Given the description of an element on the screen output the (x, y) to click on. 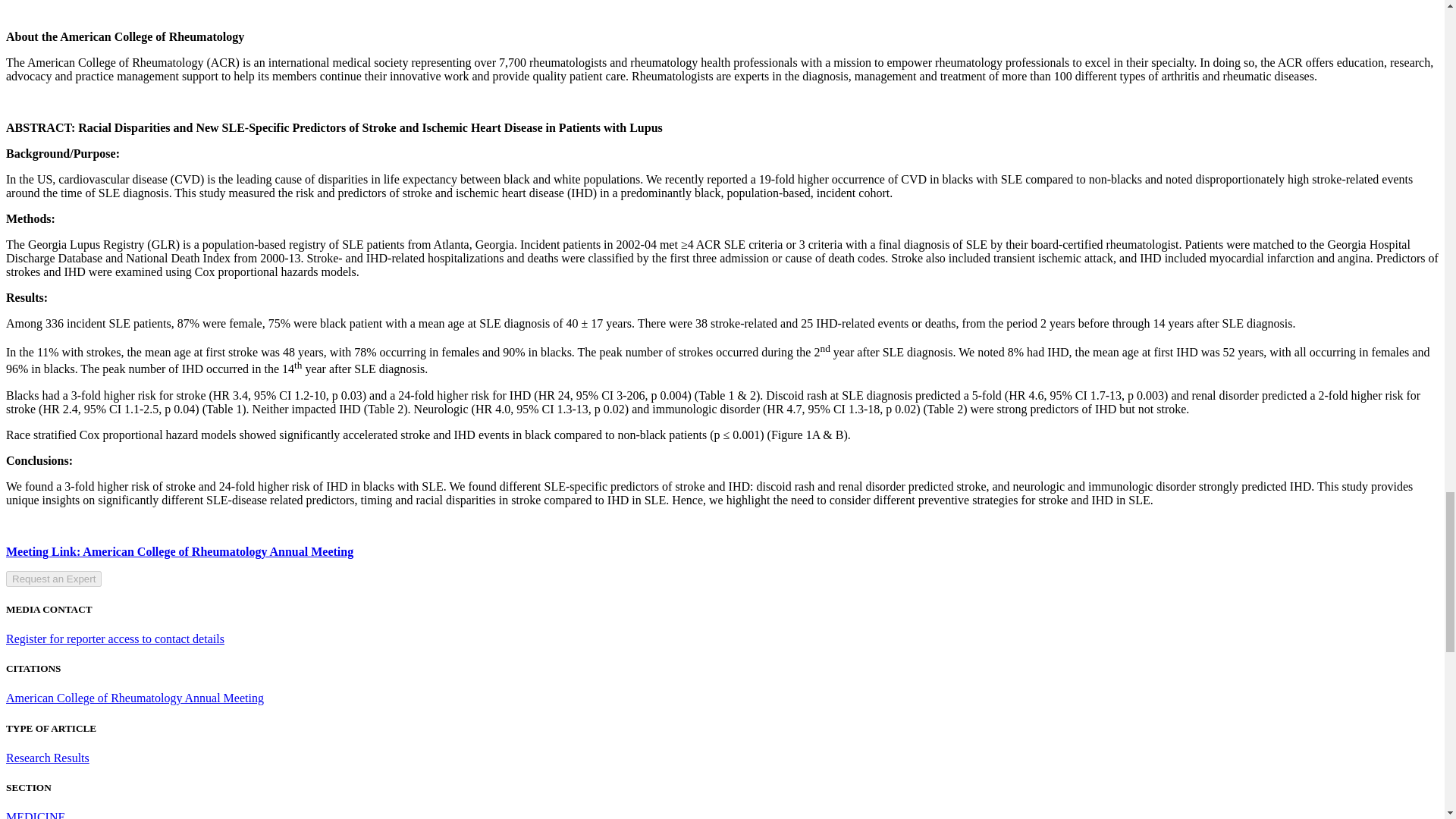
Research Results (46, 757)
Show all articles in this channel (35, 814)
